Given the description of an element on the screen output the (x, y) to click on. 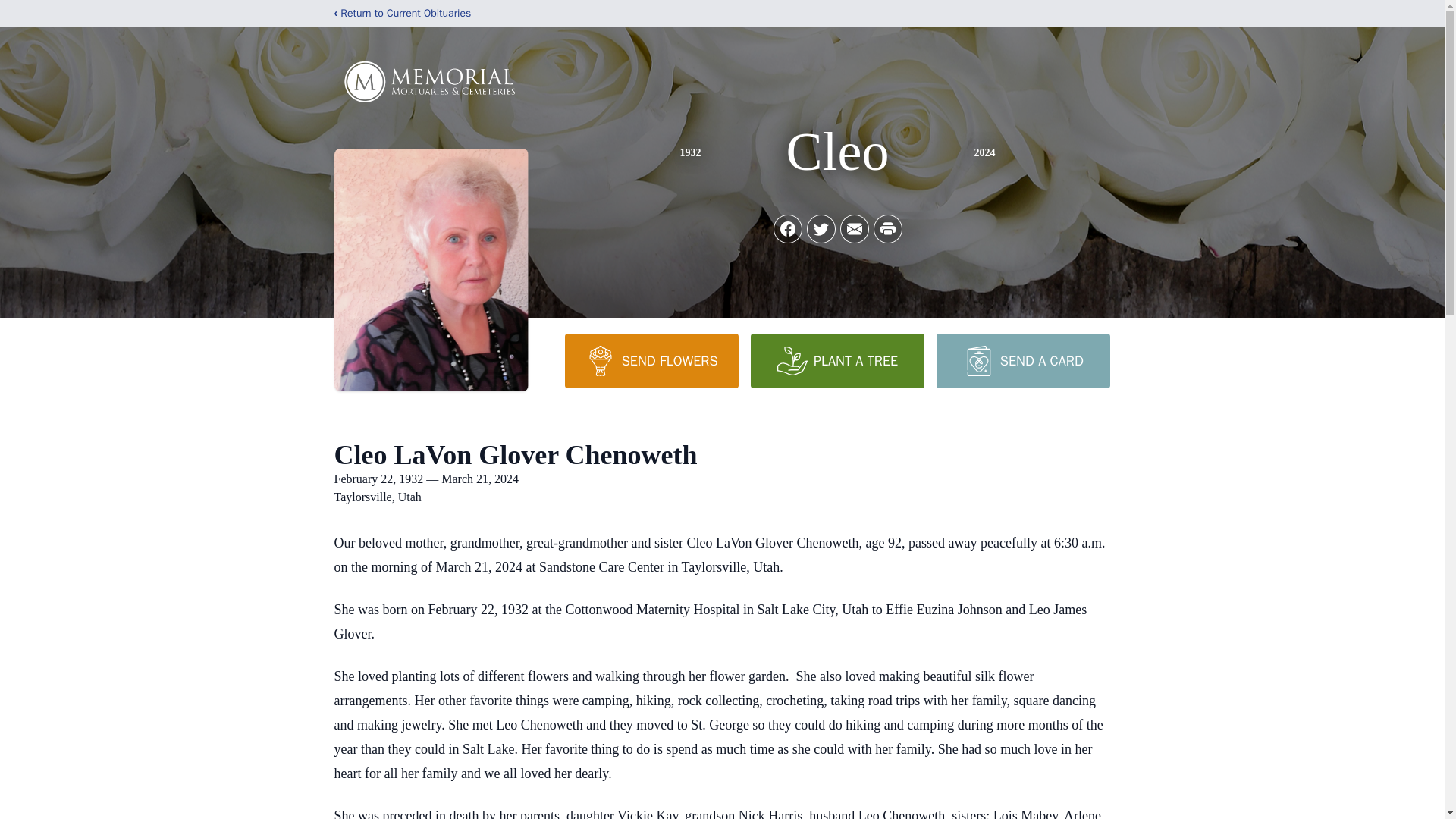
SEND FLOWERS (651, 360)
SEND A CARD (1022, 360)
PLANT A TREE (837, 360)
